Given the description of an element on the screen output the (x, y) to click on. 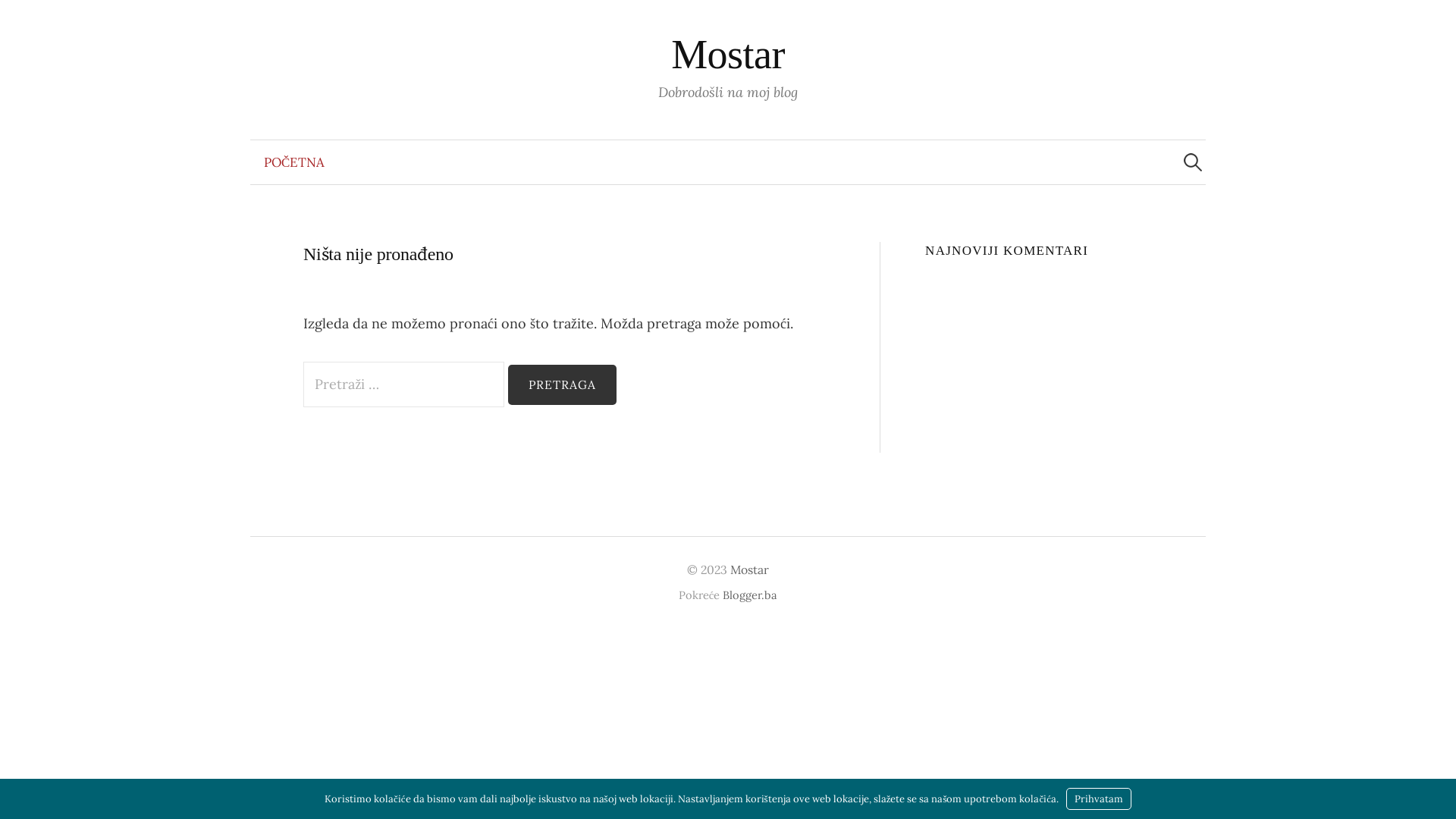
Blogger.ba Element type: text (749, 594)
Mostar Element type: text (727, 54)
Prihvatam Element type: text (1098, 798)
Mostar Element type: text (749, 569)
Pretraga Element type: text (18, 18)
Pretraga Element type: text (562, 384)
